Given the description of an element on the screen output the (x, y) to click on. 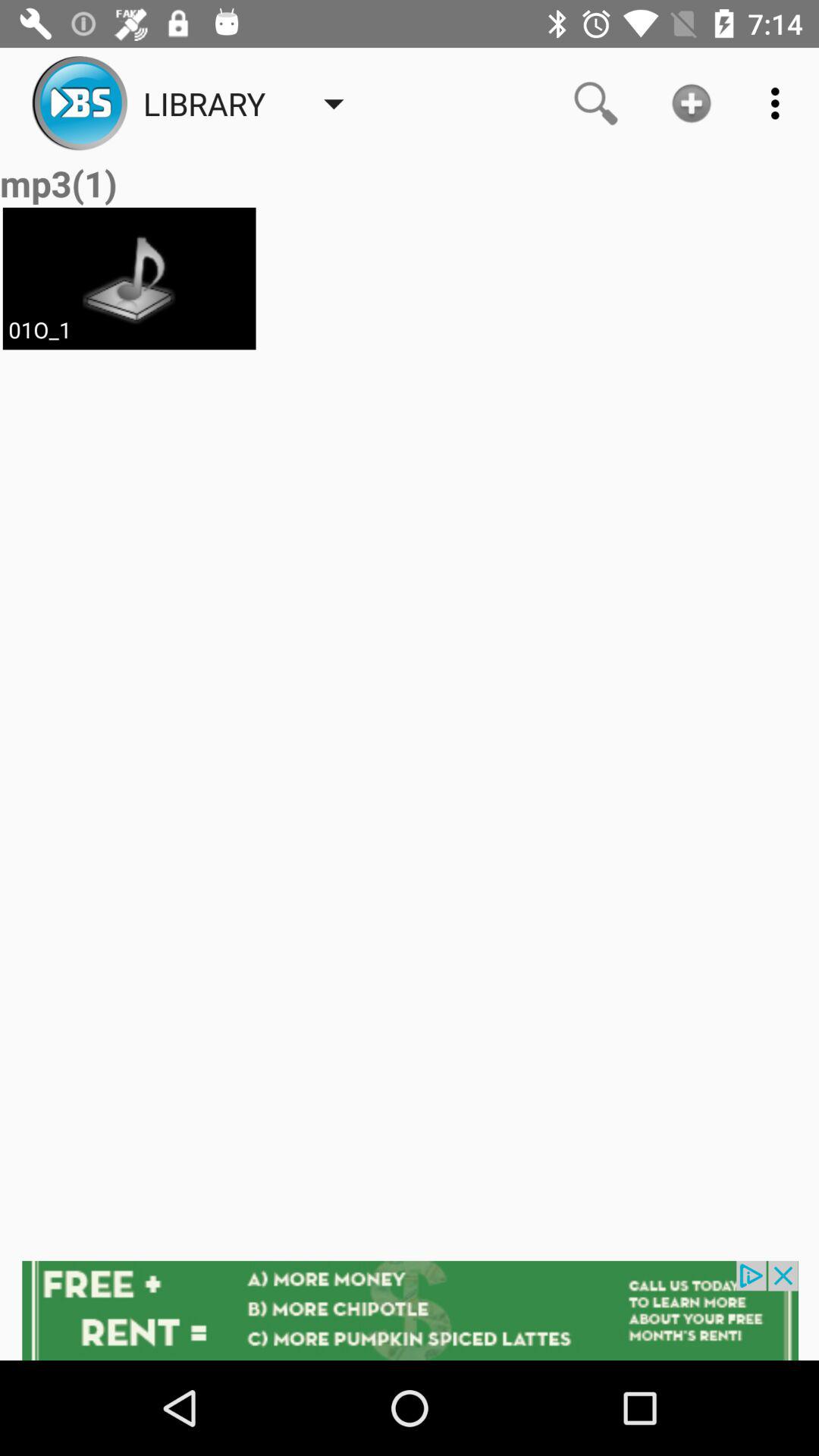
advertisement (409, 1310)
